Given the description of an element on the screen output the (x, y) to click on. 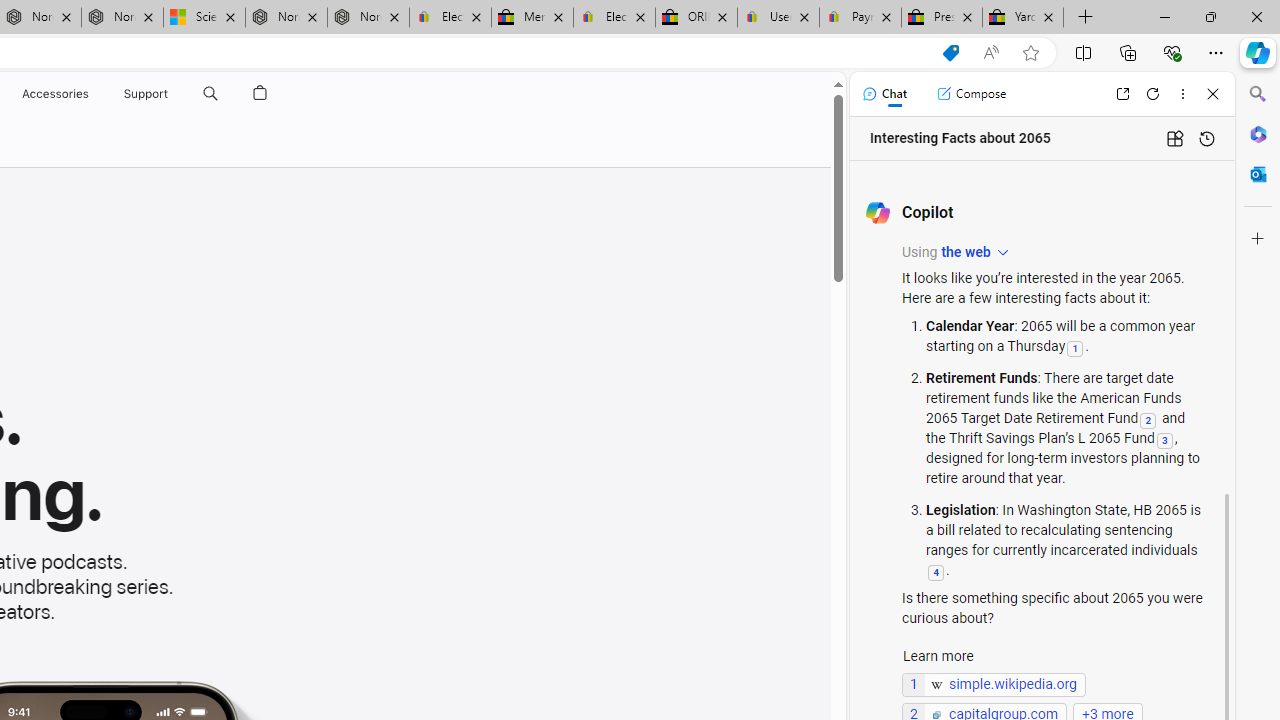
Payments Terms of Use | eBay.com (860, 17)
Electronics, Cars, Fashion, Collectibles & More | eBay (614, 17)
Nordace - Summer Adventures 2024 (285, 17)
Shopping Bag (260, 93)
Accessories menu (91, 93)
Search apple.com (210, 93)
Support (146, 93)
